Given the description of an element on the screen output the (x, y) to click on. 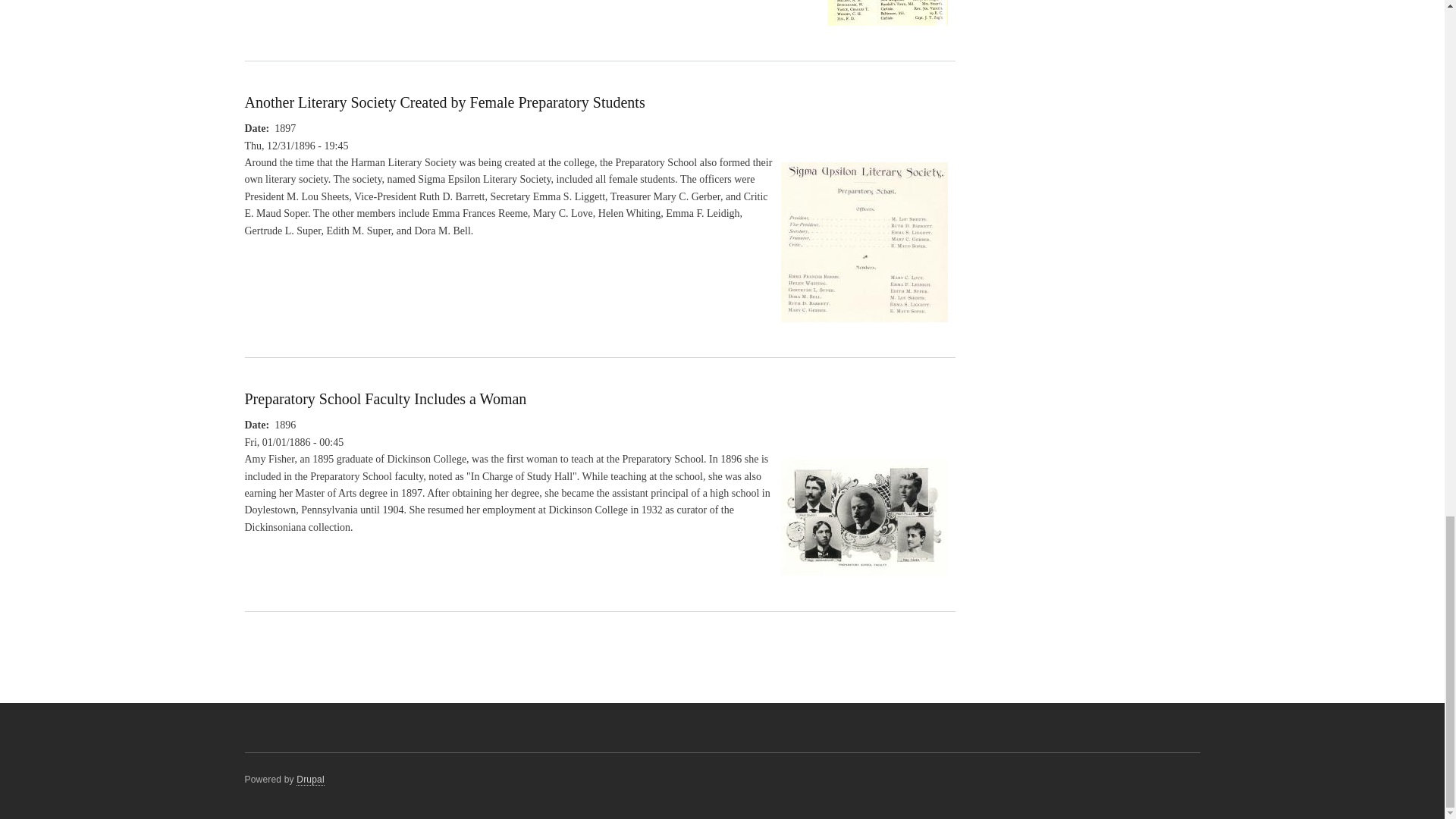
Preparatory School Faculty Includes a Woman (863, 582)
Drupal (310, 779)
First Mention of a Woman in Prep School (887, 32)
Preparatory School Faculty Includes a Woman (384, 398)
